Given the description of an element on the screen output the (x, y) to click on. 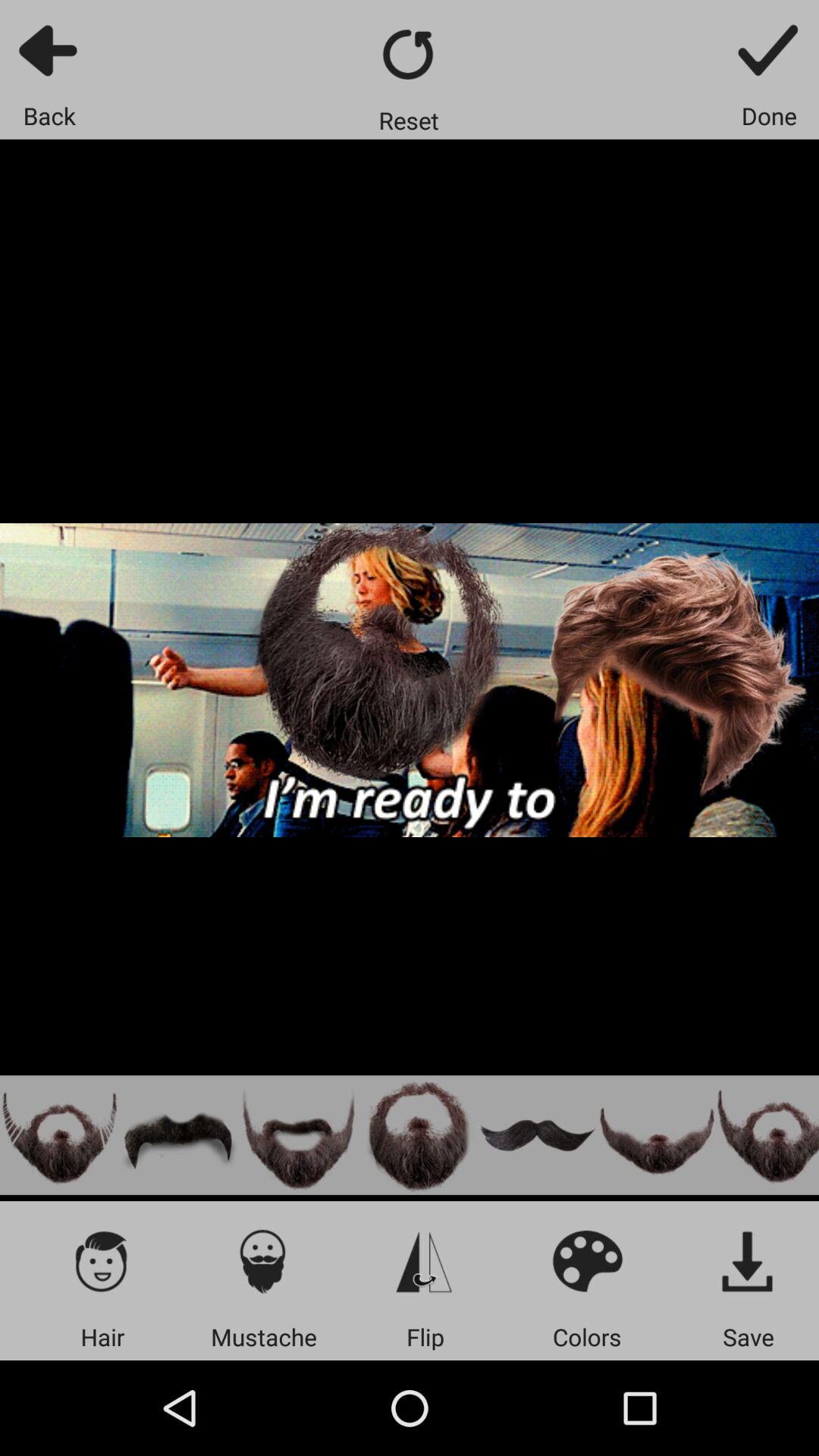
select beard style (417, 1134)
